Given the description of an element on the screen output the (x, y) to click on. 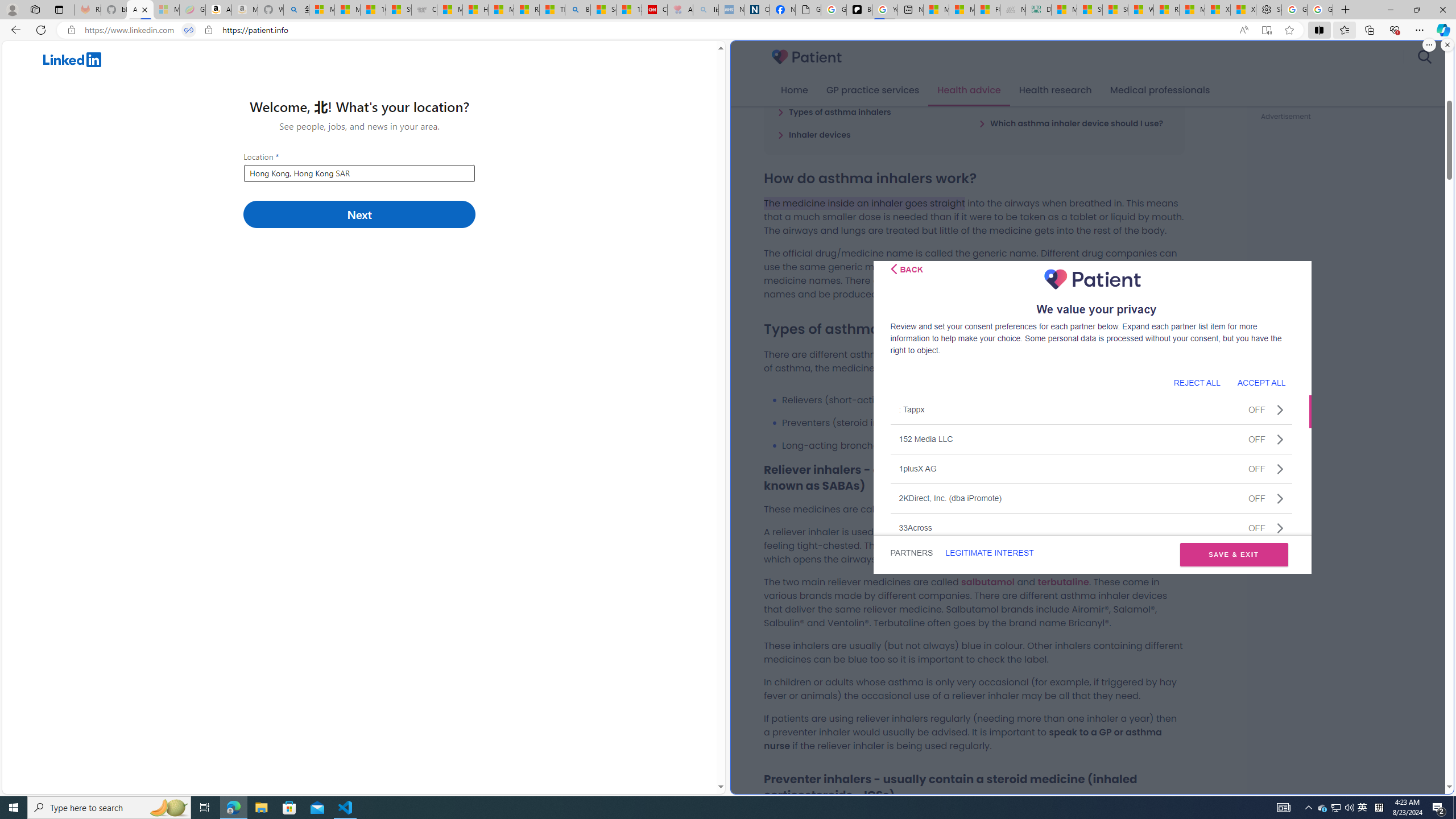
152 Media LLCOFF (1090, 438)
How do asthma inhalers work? (844, 88)
salbutamol (987, 581)
Arthritis: Ask Health Professionals - Sleeping (679, 9)
search (1424, 56)
Google Analytics Opt-out Browser Add-on Download Page (807, 9)
GP practice services (872, 90)
